Given the description of an element on the screen output the (x, y) to click on. 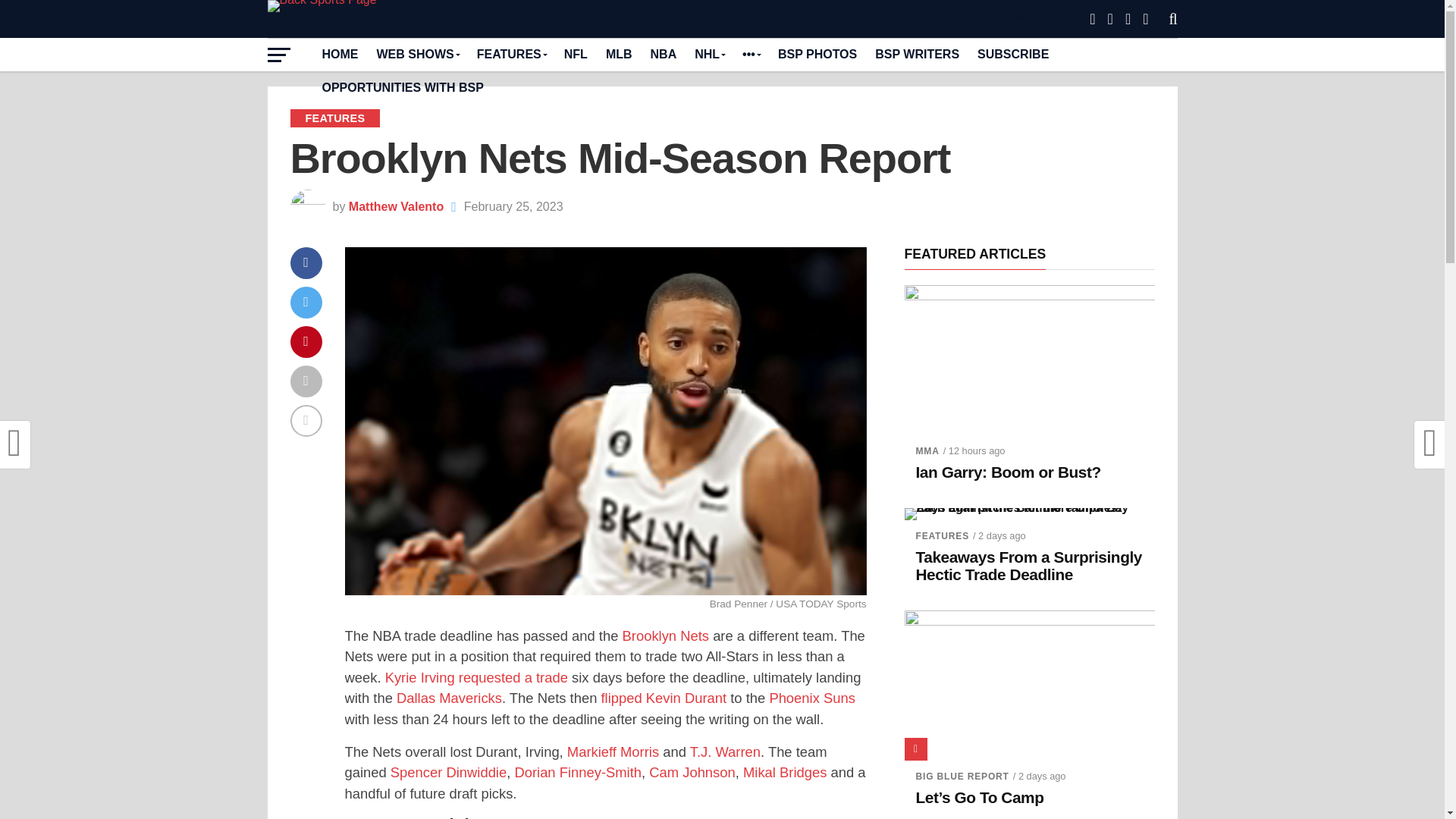
Posts by Matthew Valento (396, 205)
